Given the description of an element on the screen output the (x, y) to click on. 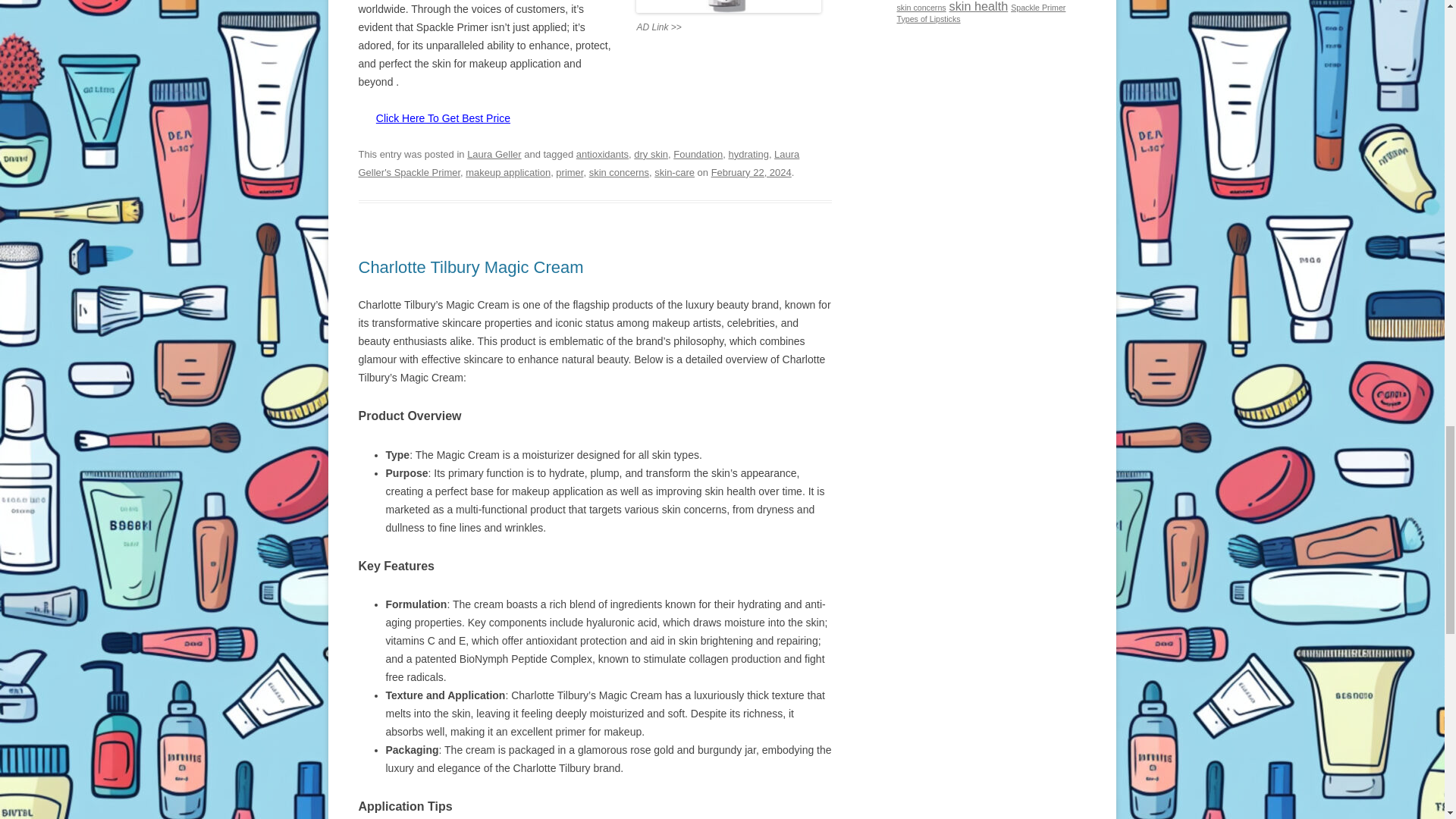
skin concerns (619, 172)
skin-care (673, 172)
antioxidants (602, 153)
Charlotte Tilbury Magic Cream (470, 266)
makeup application (507, 172)
Click Here To Get Best Price (443, 118)
dry skin (650, 153)
hydrating (748, 153)
February 22, 2024 (751, 172)
Foundation (697, 153)
